Given the description of an element on the screen output the (x, y) to click on. 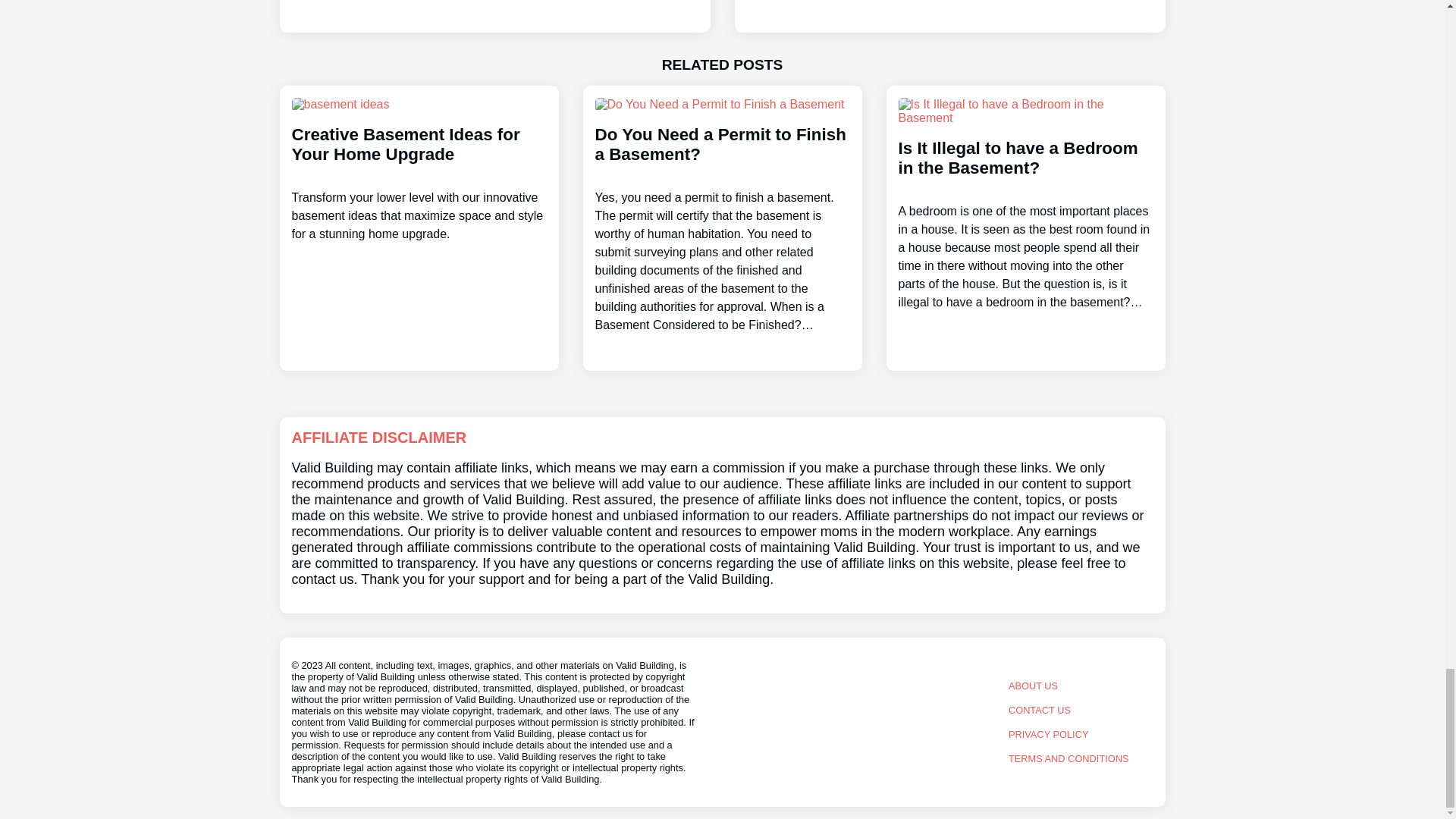
Creative Basement Ideas for Your Home Upgrade (418, 170)
Is It Illegal to have a Bedroom in the Basement? (1025, 211)
Do You Need a Permit to Finish a Basement? (948, 16)
